Given the description of an element on the screen output the (x, y) to click on. 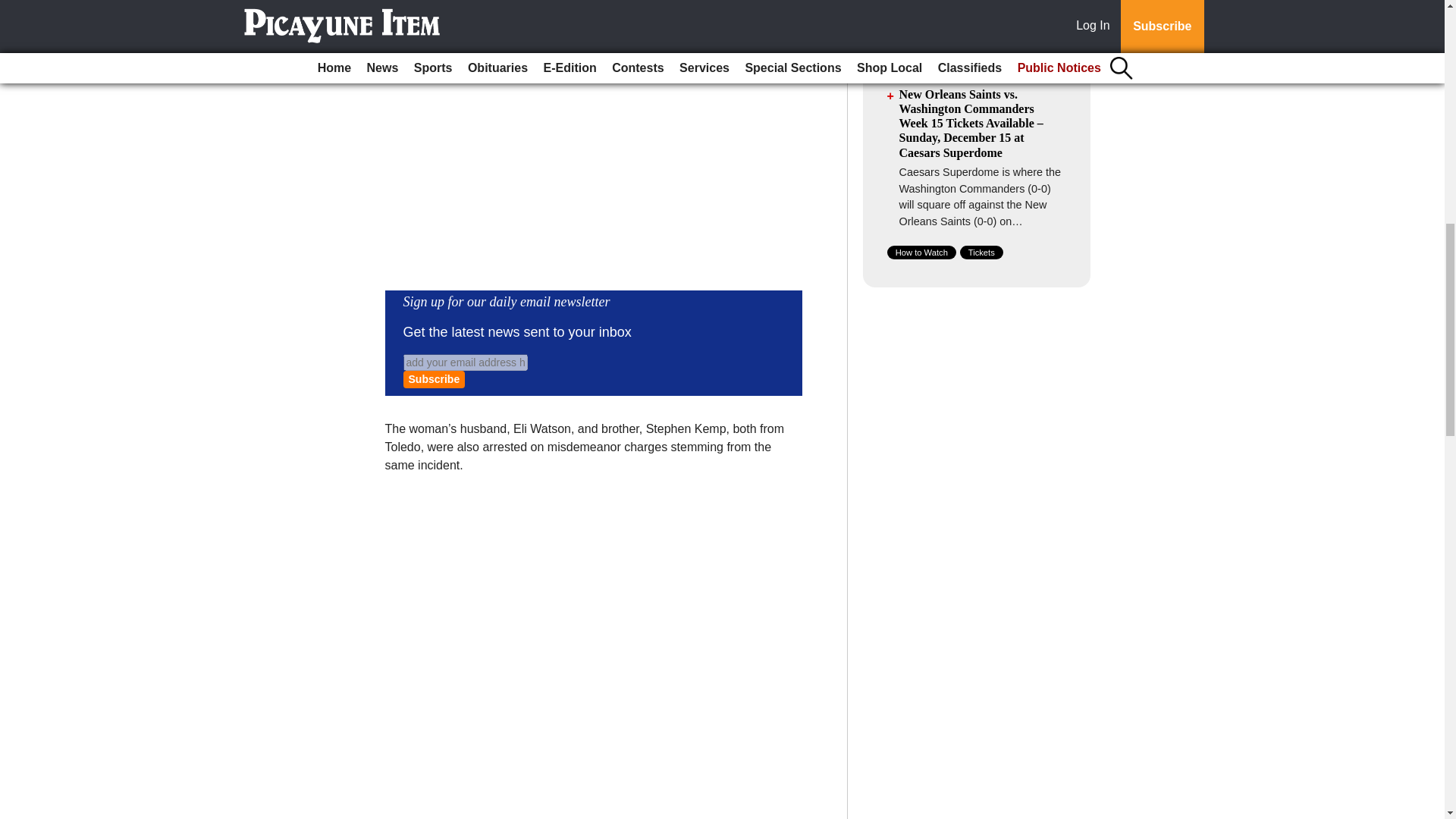
Subscribe (434, 379)
Subscribe (434, 379)
